Given the description of an element on the screen output the (x, y) to click on. 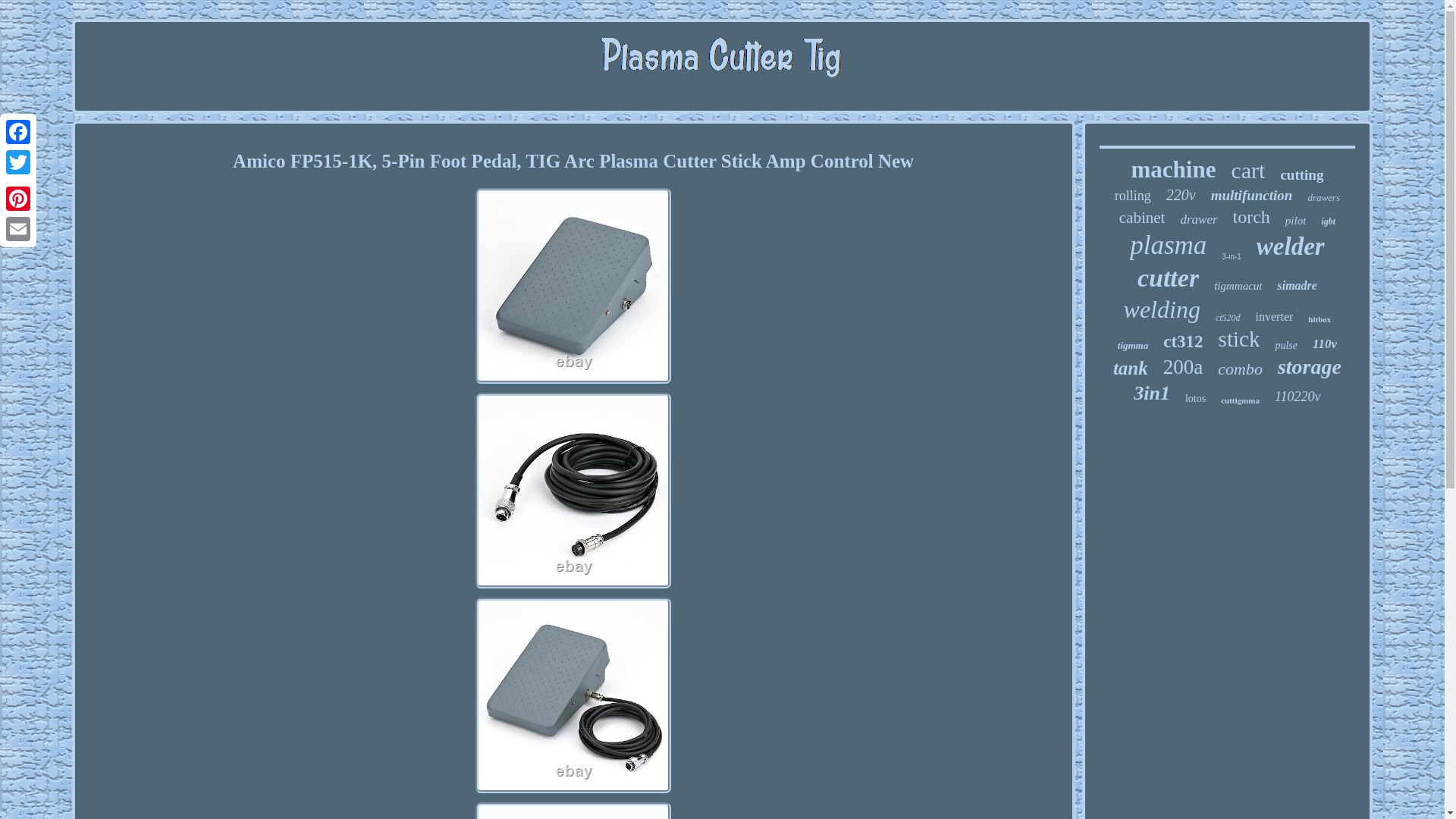
stick (1239, 339)
igbt (1327, 221)
simadre (1296, 285)
welding (1161, 309)
welder (1290, 246)
multifunction (1251, 195)
machine (1173, 169)
cutting (1301, 175)
